Given the description of an element on the screen output the (x, y) to click on. 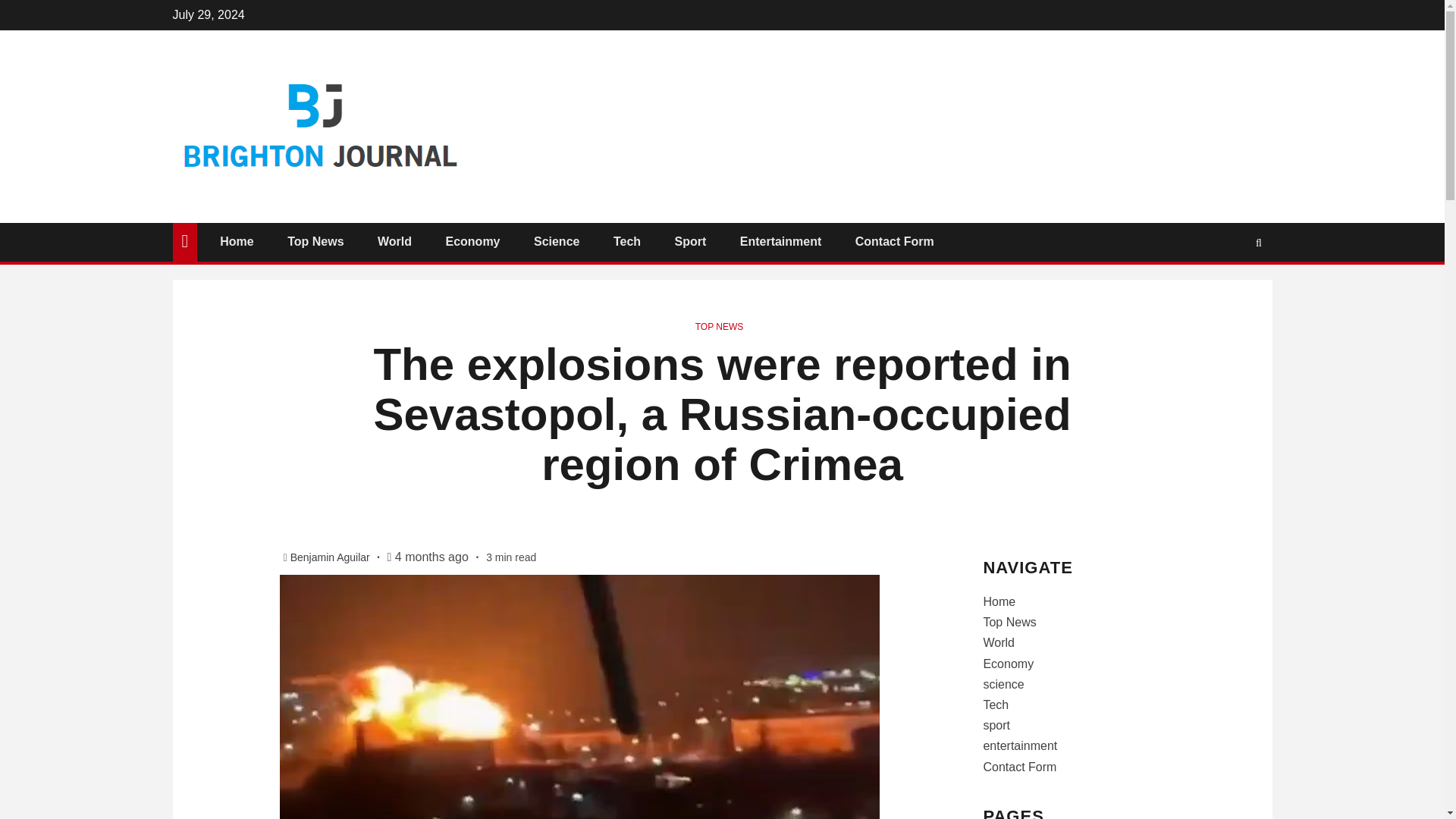
Science (556, 241)
Home (236, 241)
Top News (1008, 621)
Top News (314, 241)
Economy (1007, 663)
TOP NEWS (719, 326)
Search (1229, 287)
Sport (690, 241)
Benjamin Aguilar (330, 557)
Entertainment (780, 241)
Home (998, 601)
World (394, 241)
Tech (626, 241)
Contact Form (895, 241)
